Given the description of an element on the screen output the (x, y) to click on. 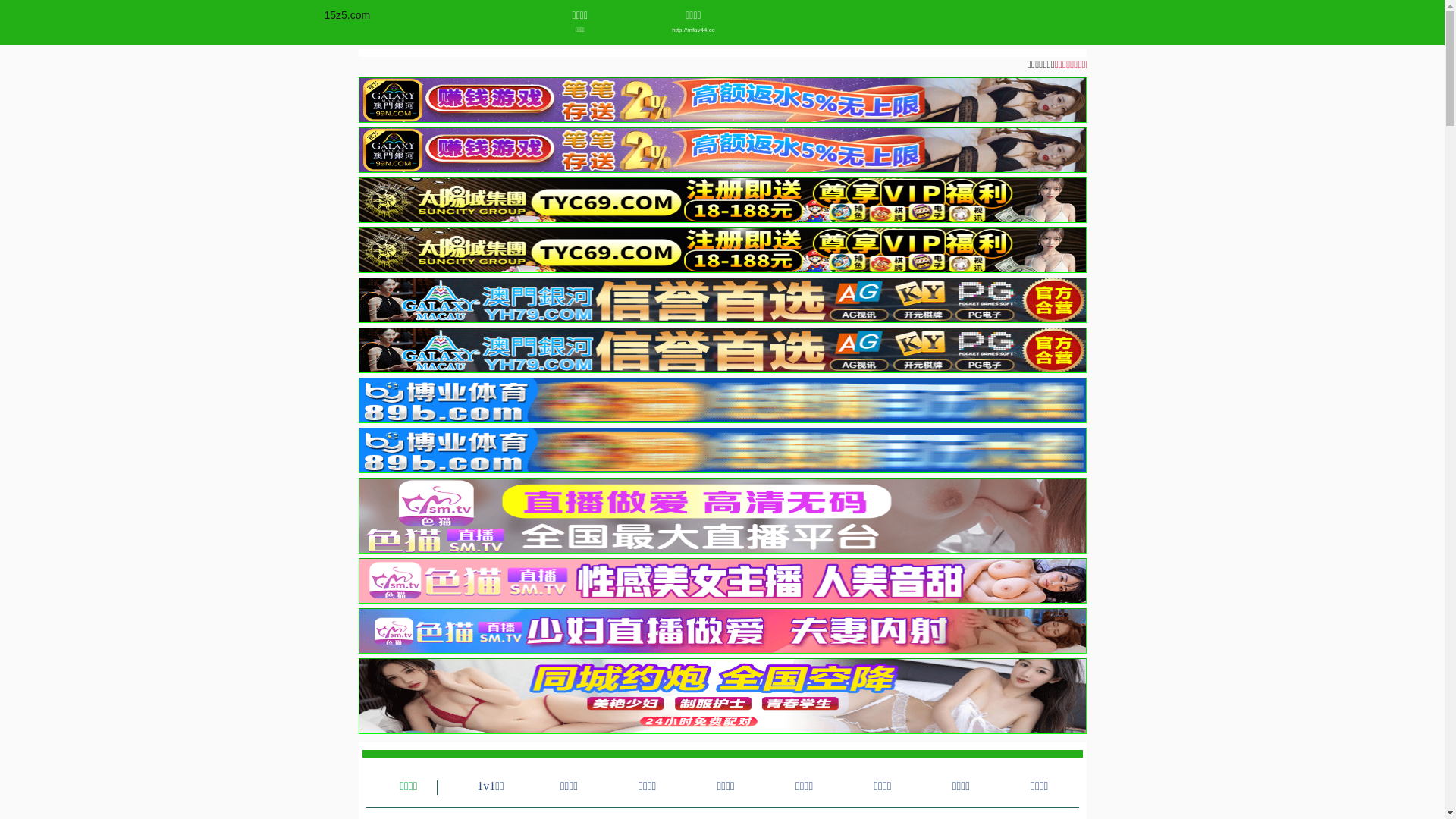
http://mfav44.cc Element type: text (693, 29)
15z5.com Element type: text (347, 15)
